Given the description of an element on the screen output the (x, y) to click on. 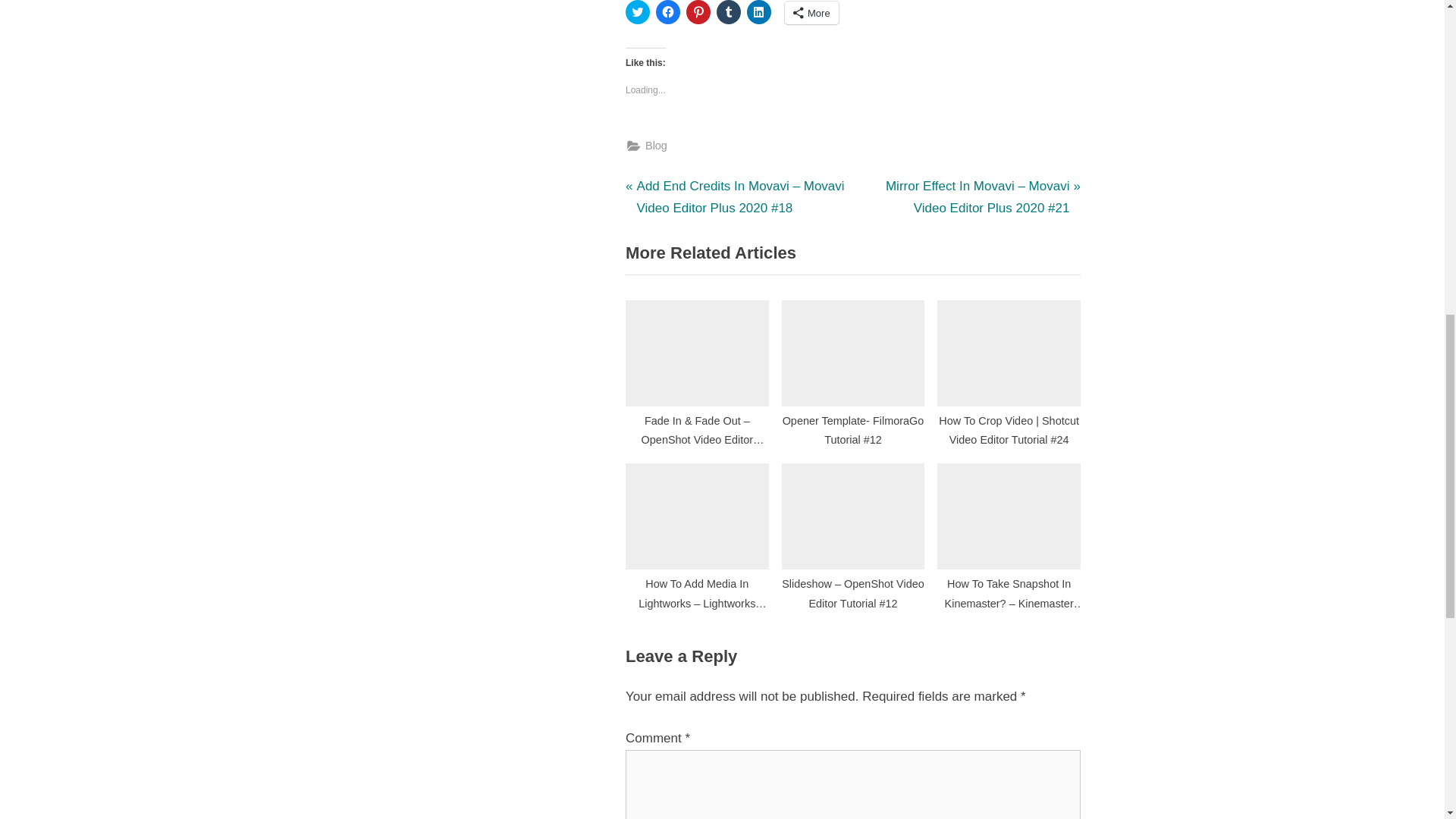
Click to share on Tumblr (728, 12)
More (811, 12)
Click to share on LinkedIn (758, 12)
Blog (655, 145)
Click to share on Pinterest (697, 12)
Click to share on Facebook (667, 12)
Click to share on Twitter (637, 12)
